Given the description of an element on the screen output the (x, y) to click on. 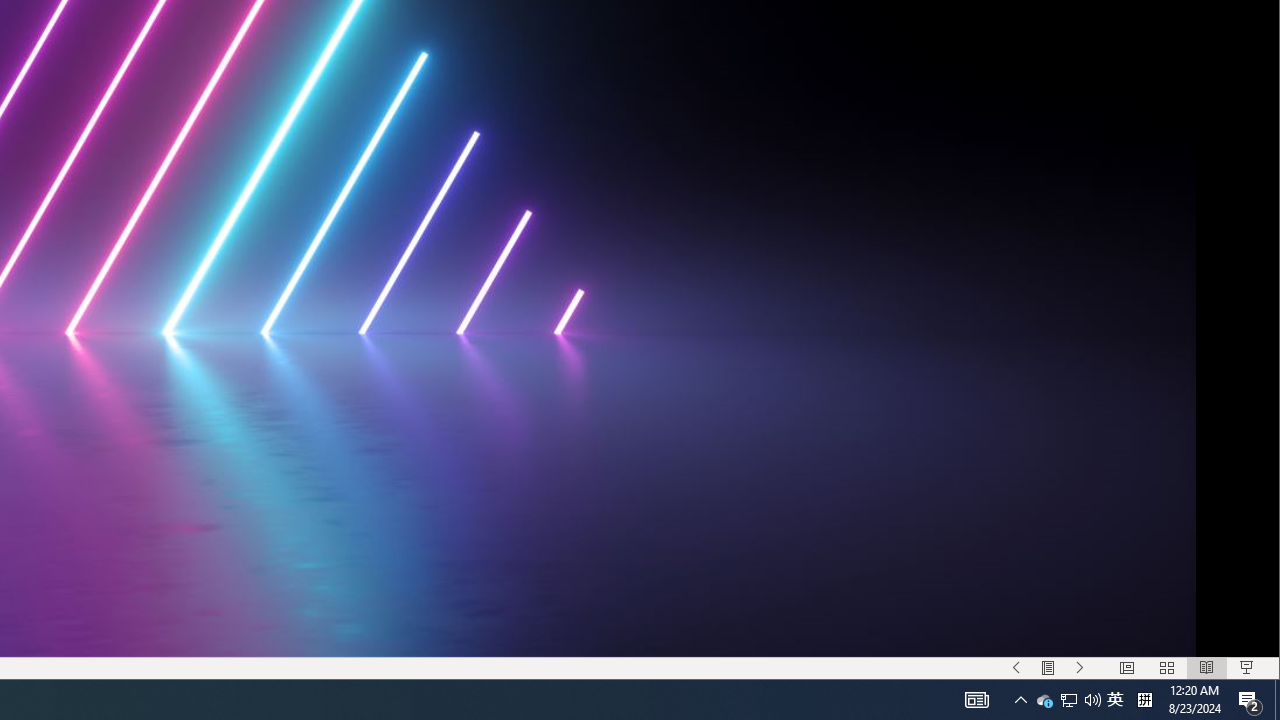
Slide Show Previous On (1016, 668)
Notification Chevron (1020, 699)
Slide Sorter (1166, 668)
User Promoted Notification Area (1068, 699)
Menu On (1048, 668)
Reading View (1206, 668)
Slide Show Next On (1080, 668)
Tray Input Indicator - Chinese (Simplified, China) (1144, 699)
Normal (1126, 668)
AutomationID: 4105 (976, 699)
Slide Show (1247, 668)
Show desktop (1277, 699)
Q2790: 100% (1044, 699)
